Given the description of an element on the screen output the (x, y) to click on. 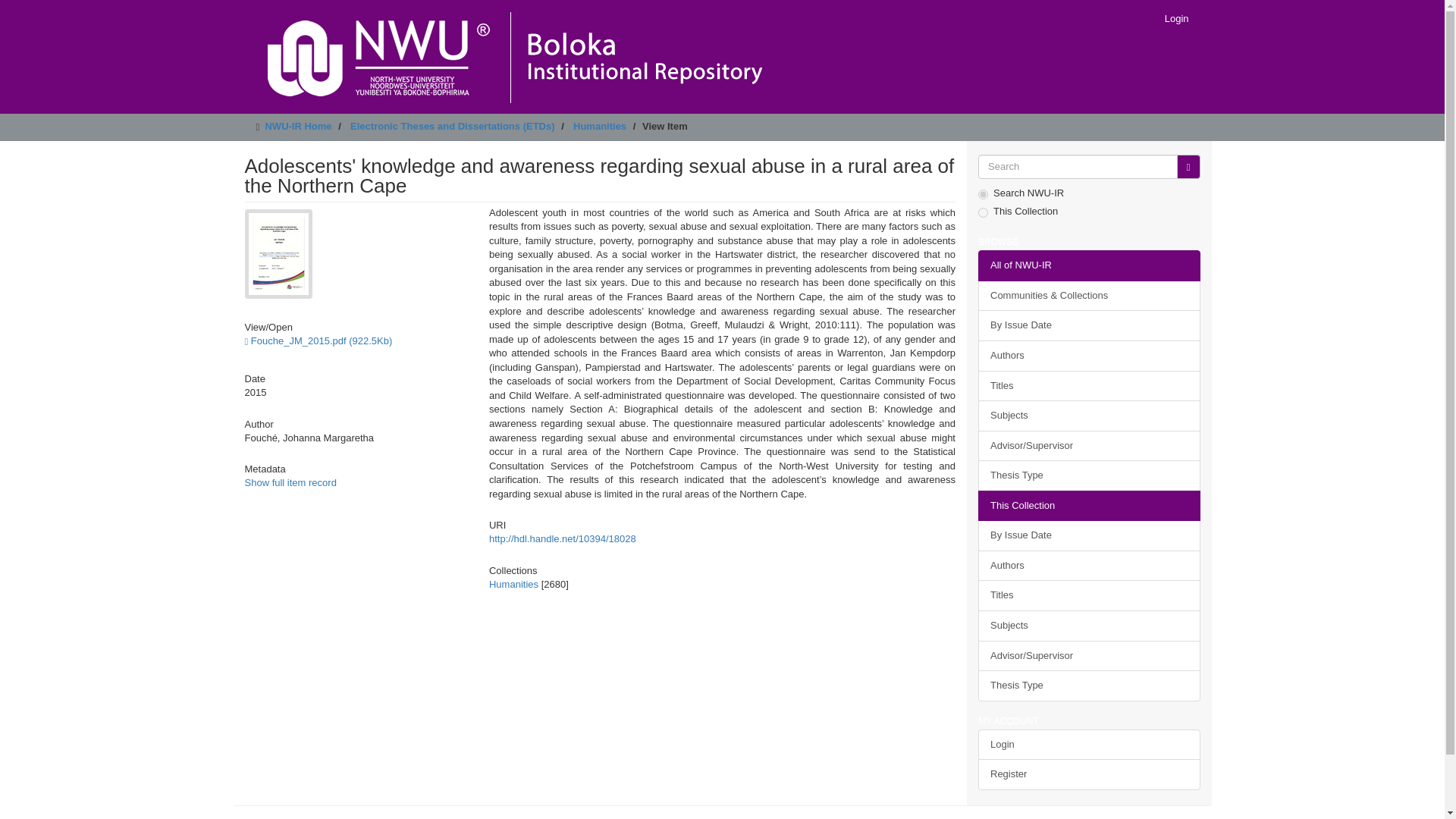
By Issue Date (1088, 535)
Subjects (1088, 415)
Subjects (1088, 625)
Login (1088, 744)
By Issue Date (1088, 325)
Go (1187, 166)
Titles (1088, 385)
Authors (1088, 565)
Titles (1088, 594)
Show full item record (290, 482)
Register (1088, 774)
All of NWU-IR (1088, 265)
This Collection (1088, 505)
Humanities (513, 583)
Humanities (599, 125)
